Given the description of an element on the screen output the (x, y) to click on. 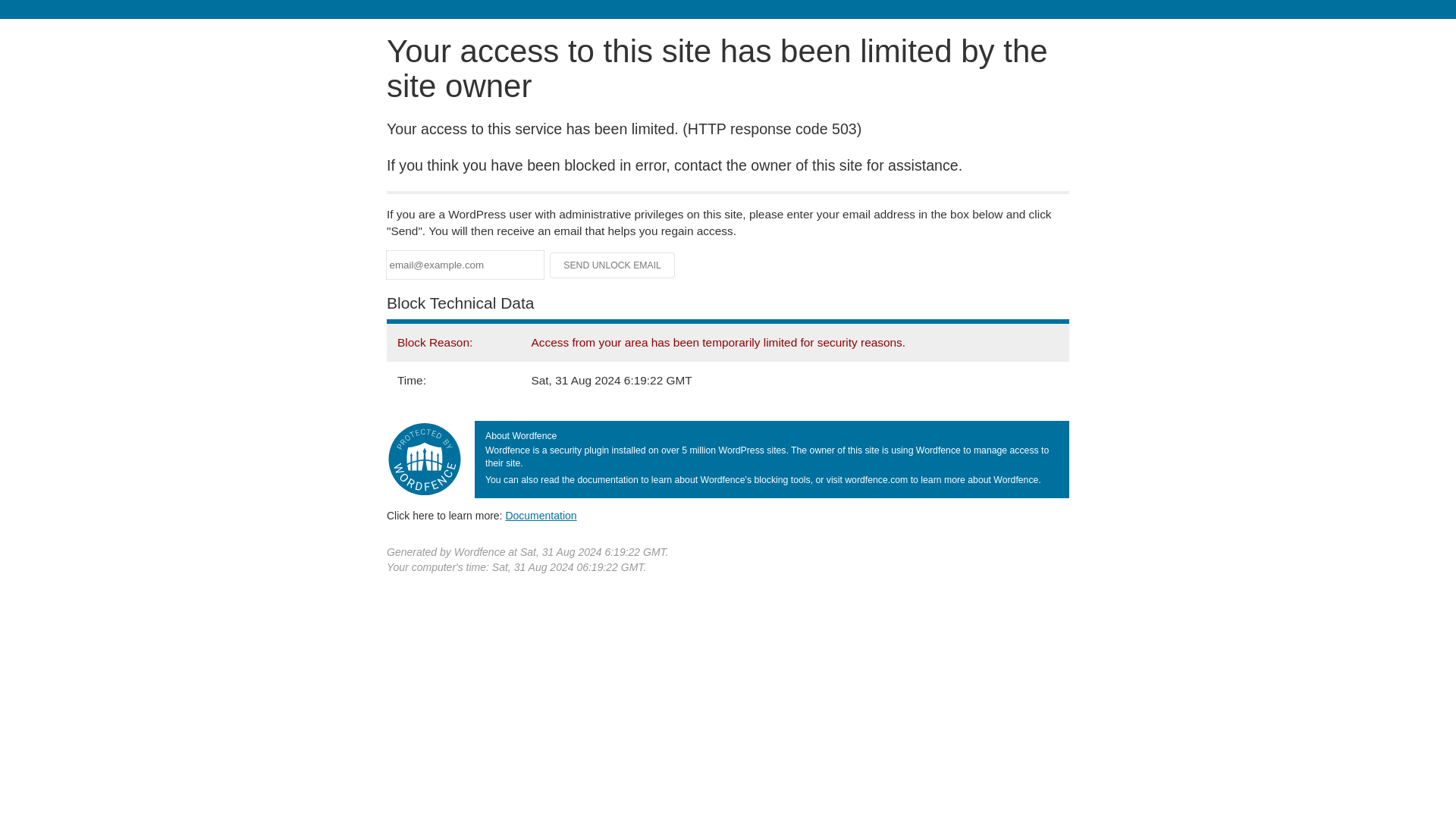
Send Unlock Email (612, 265)
Send Unlock Email (612, 265)
Documentation (540, 515)
